Given the description of an element on the screen output the (x, y) to click on. 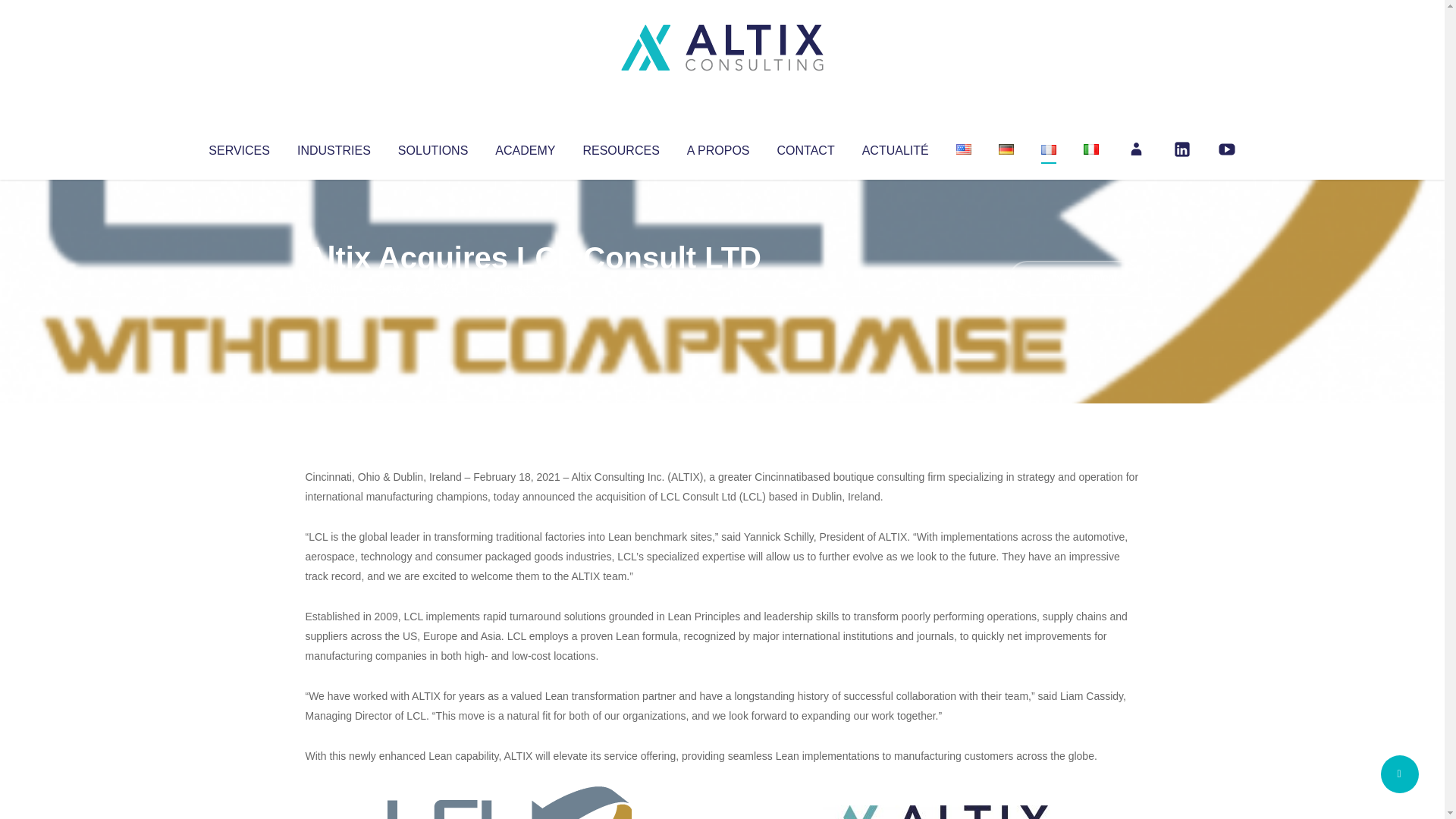
SERVICES (238, 146)
Altix (333, 287)
ACADEMY (524, 146)
SOLUTIONS (432, 146)
RESOURCES (620, 146)
Articles par Altix (333, 287)
INDUSTRIES (334, 146)
A PROPOS (718, 146)
No Comments (1073, 278)
Uncategorized (530, 287)
